Given the description of an element on the screen output the (x, y) to click on. 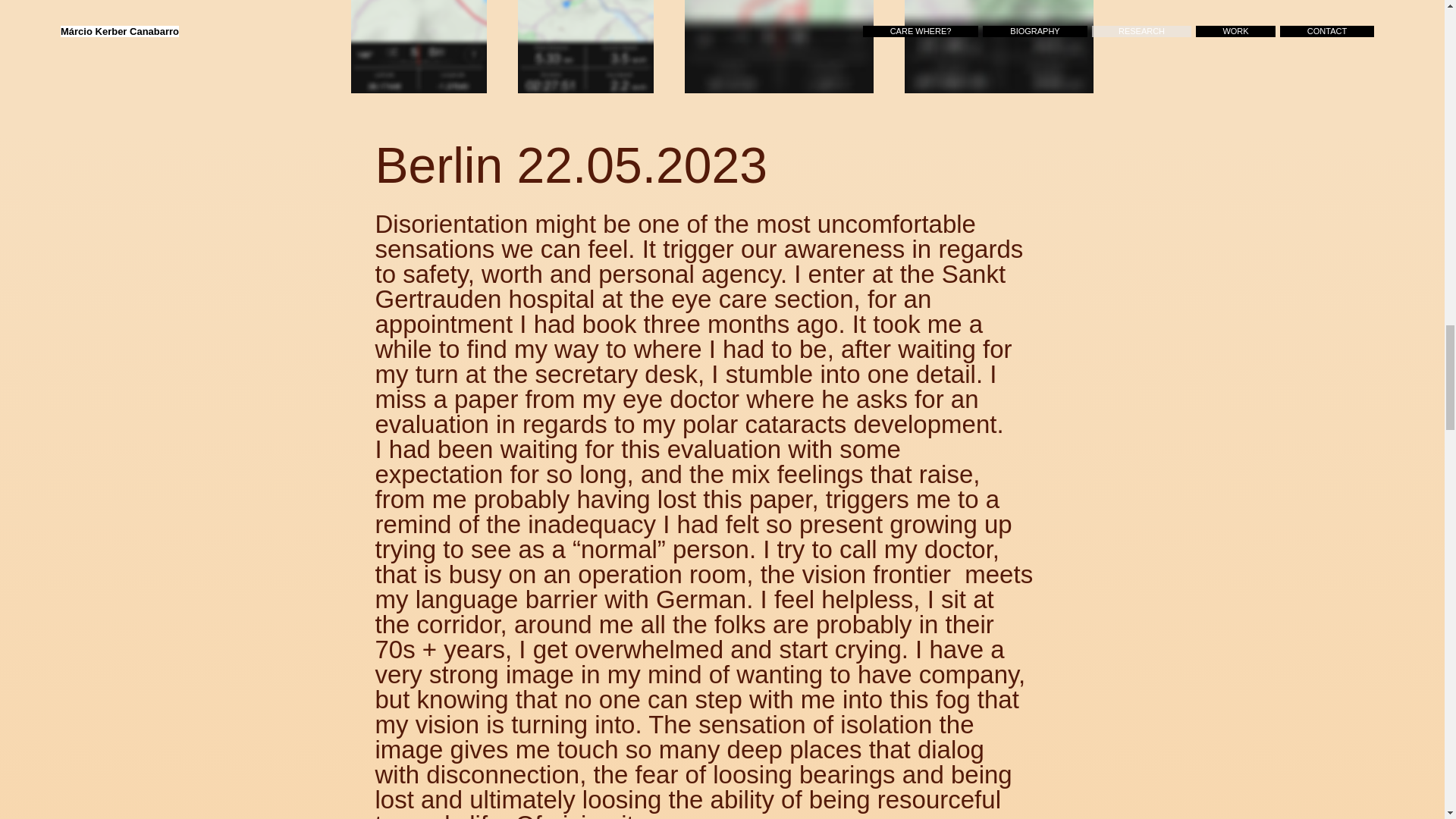
A81852DD-43EB-4596-B33B-35996DB010BA.png (998, 46)
